Given the description of an element on the screen output the (x, y) to click on. 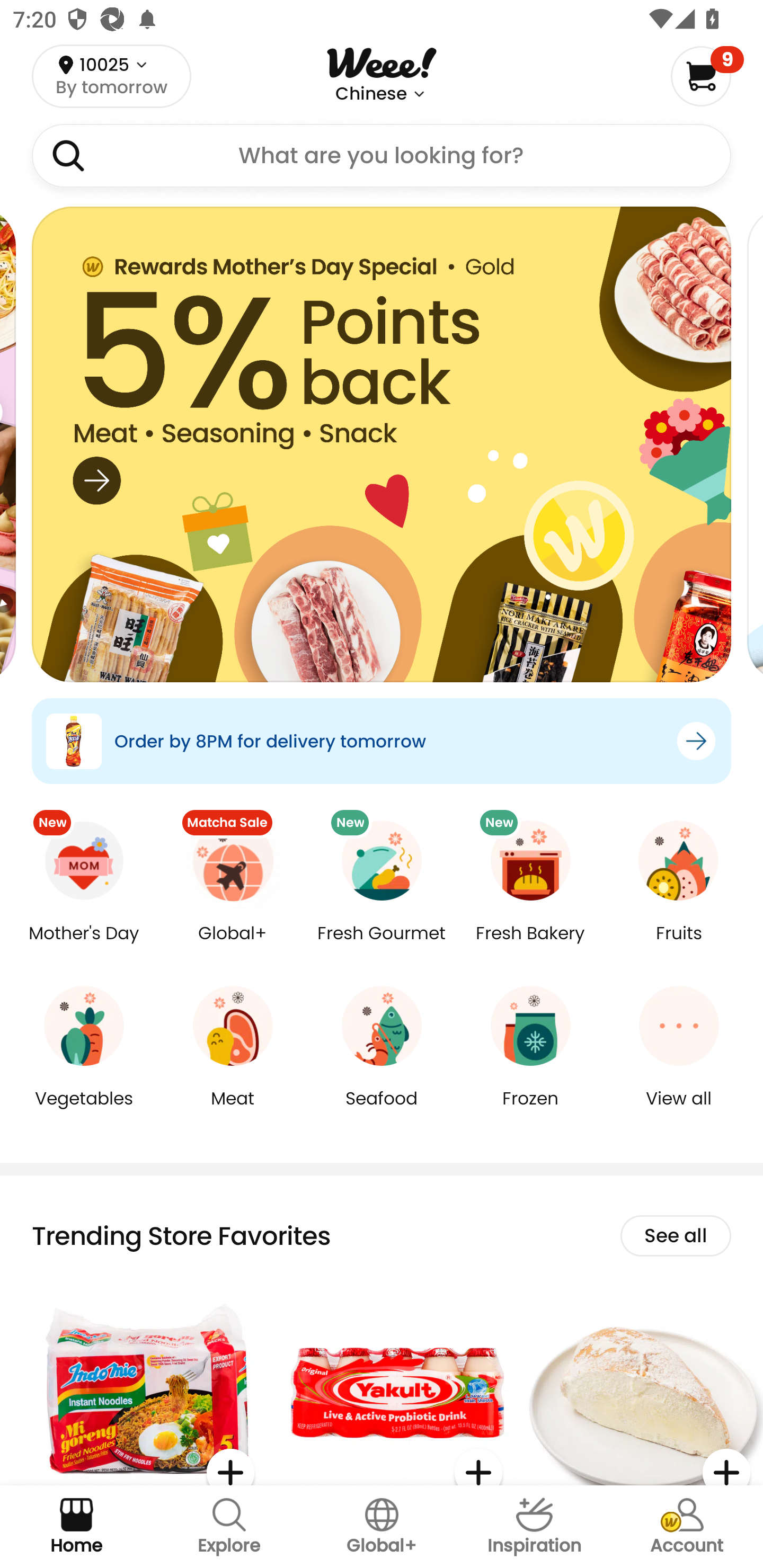
10025 By tomorrow (111, 75)
9 (706, 75)
Chinese (370, 93)
What are you looking for? (381, 155)
Order by 8PM for delivery tomorrow (381, 740)
Mother's Day (83, 946)
Global+ (232, 946)
Fresh Gourmet (381, 946)
Fresh Bakery (530, 946)
Fruits (678, 946)
